Given the description of an element on the screen output the (x, y) to click on. 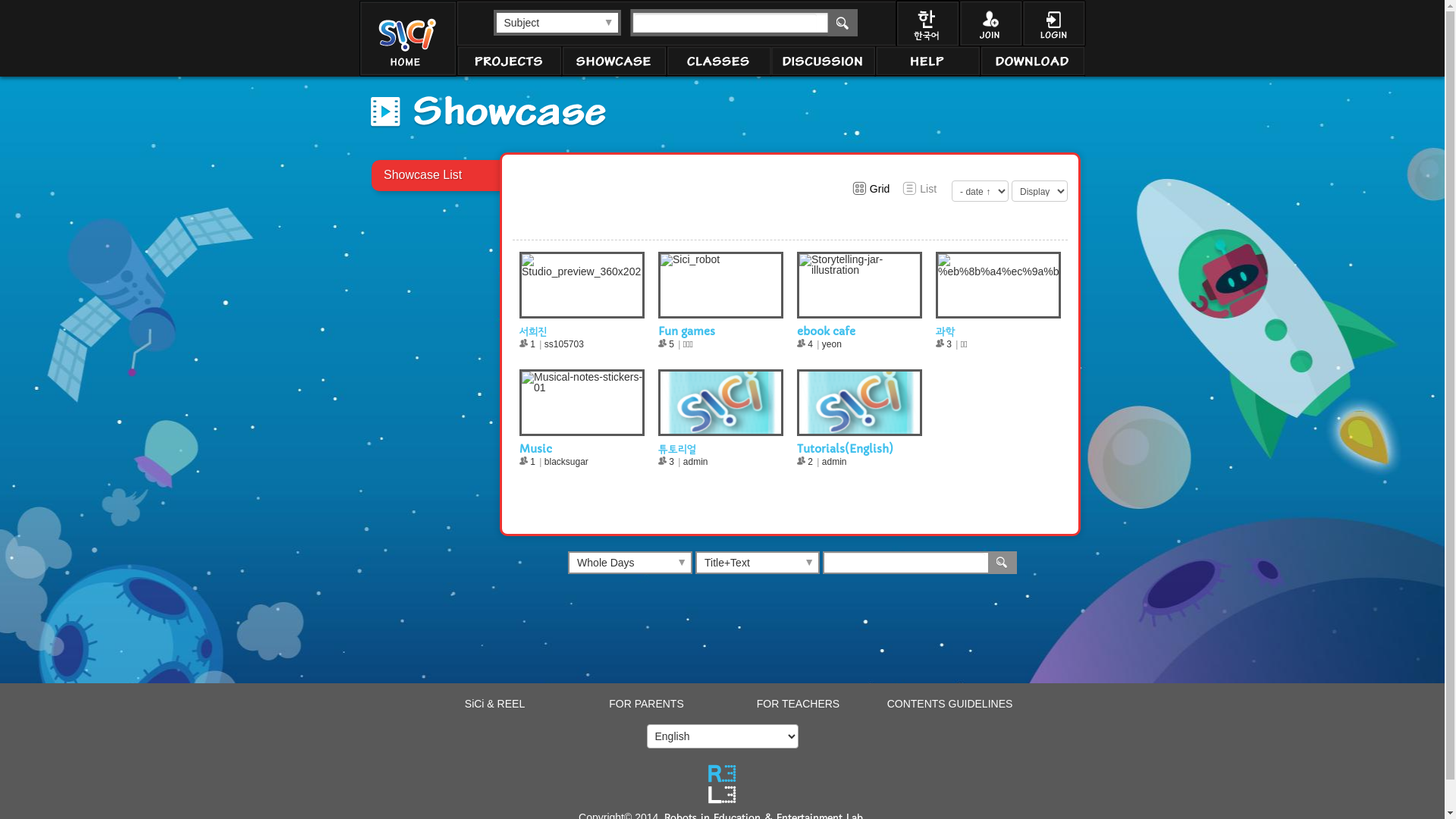
FOR PARENTS Element type: text (646, 703)
Discussion Element type: text (822, 61)
FOR TEACHERS Element type: text (797, 703)
admin Element type: text (834, 461)
Search Element type: text (1001, 562)
login Element type: text (1053, 23)
R3L3 Element type: text (721, 783)
Classes Element type: text (717, 61)
search Element type: text (841, 22)
language Element type: text (926, 23)
Studio Element type: text (613, 61)
Tutorials(English) Element type: text (845, 448)
Project Element type: text (508, 61)
yeon Element type: text (831, 343)
join Element type: text (989, 23)
blacksugar Element type: text (566, 461)
ebook cafe Element type: text (826, 331)
ss105703 Element type: text (563, 343)
Home Element type: text (406, 38)
admin Element type: text (695, 461)
CONTENTS GUIDELINES Element type: text (950, 703)
Download Element type: text (1031, 61)
Grid Element type: text (870, 188)
Help Element type: text (927, 61)
List Element type: text (918, 188)
Showcase List Element type: text (485, 175)
Music Element type: text (535, 448)
SiCi & REEL Element type: text (494, 703)
Fun games Element type: text (686, 331)
